Given the description of an element on the screen output the (x, y) to click on. 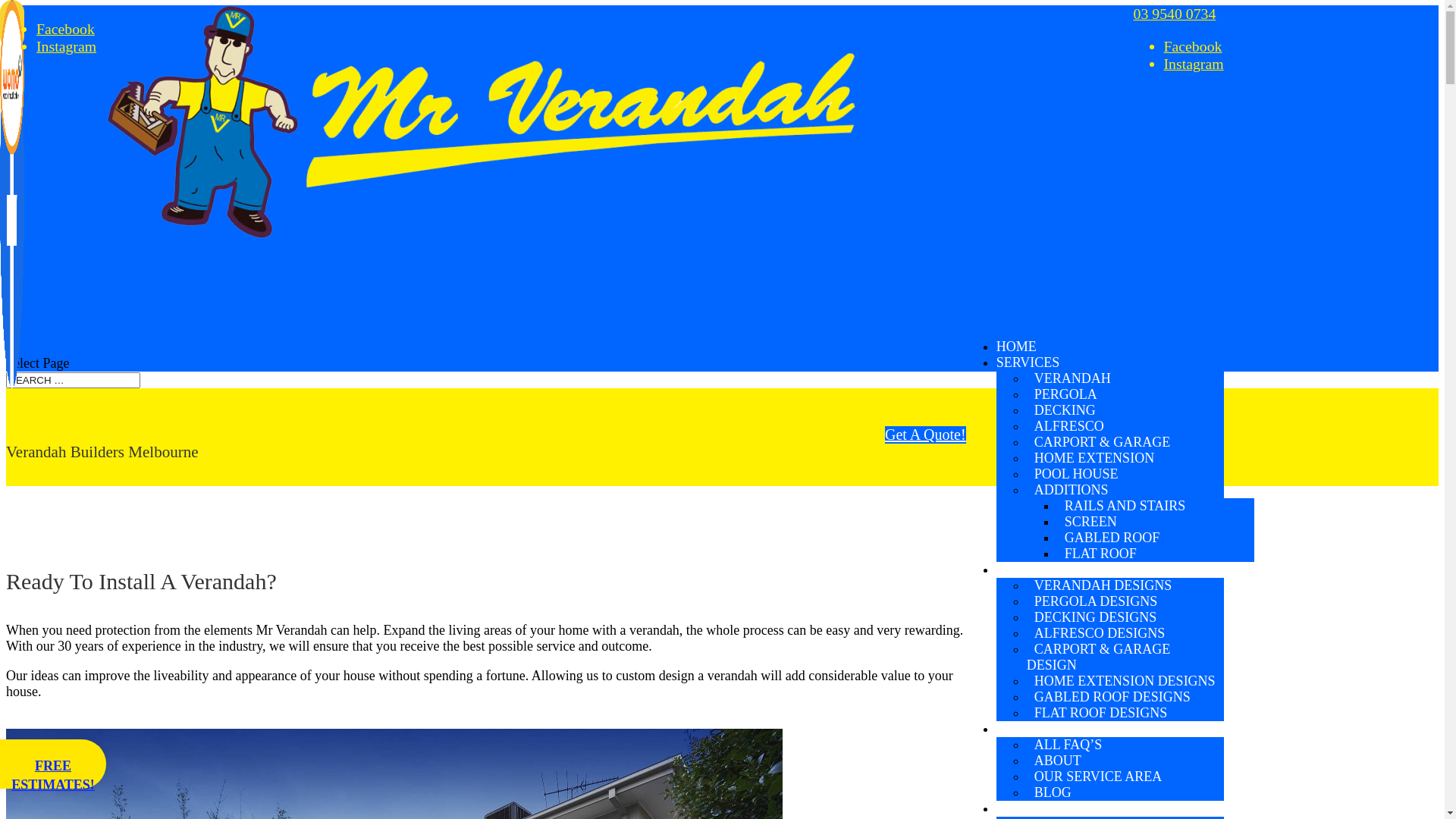
HOME Element type: text (1016, 346)
03 9540 0734 Element type: text (1174, 13)
FLAT ROOF Element type: text (1100, 553)
FREE ESTIMATES! Element type: text (53, 763)
HOME EXTENSION Element type: text (1093, 457)
DECKING Element type: text (1064, 410)
SCREEN Element type: text (1090, 521)
PERGOLA Element type: text (1065, 394)
VERANDAH DESIGNS Element type: text (1102, 585)
POOL HOUSE Element type: text (1076, 473)
Facebook Element type: text (65, 28)
GALLERY Element type: text (1027, 569)
ALFRESCO Element type: text (1068, 426)
ALFRESCO DESIGNS Element type: text (1099, 633)
Facebook Element type: text (1193, 45)
DECKING DESIGNS Element type: text (1095, 617)
GABLED ROOF Element type: text (1112, 537)
ABOUT Element type: text (1057, 760)
VERANDAH Element type: text (1072, 378)
OUR SERVICE AREA Element type: text (1098, 776)
PERGOLA DESIGNS Element type: text (1095, 601)
GABLED ROOF DESIGNS Element type: text (1112, 696)
CARPORT & GARAGE Element type: text (1102, 441)
RAILS AND STAIRS Element type: text (1125, 505)
Instagram Element type: text (1193, 63)
CONTACT Element type: text (1028, 807)
ADDITIONS Element type: text (1071, 489)
FAQ Element type: text (1009, 728)
Instagram Element type: text (66, 45)
Search for: Element type: hover (73, 380)
CARPORT & GARAGE DESIGN Element type: text (1098, 657)
Get A Quote! Element type: text (925, 434)
SERVICES Element type: text (1028, 362)
BLOG Element type: text (1052, 792)
FLAT ROOF DESIGNS Element type: text (1100, 712)
HOME EXTENSION DESIGNS Element type: text (1124, 680)
